Given the description of an element on the screen output the (x, y) to click on. 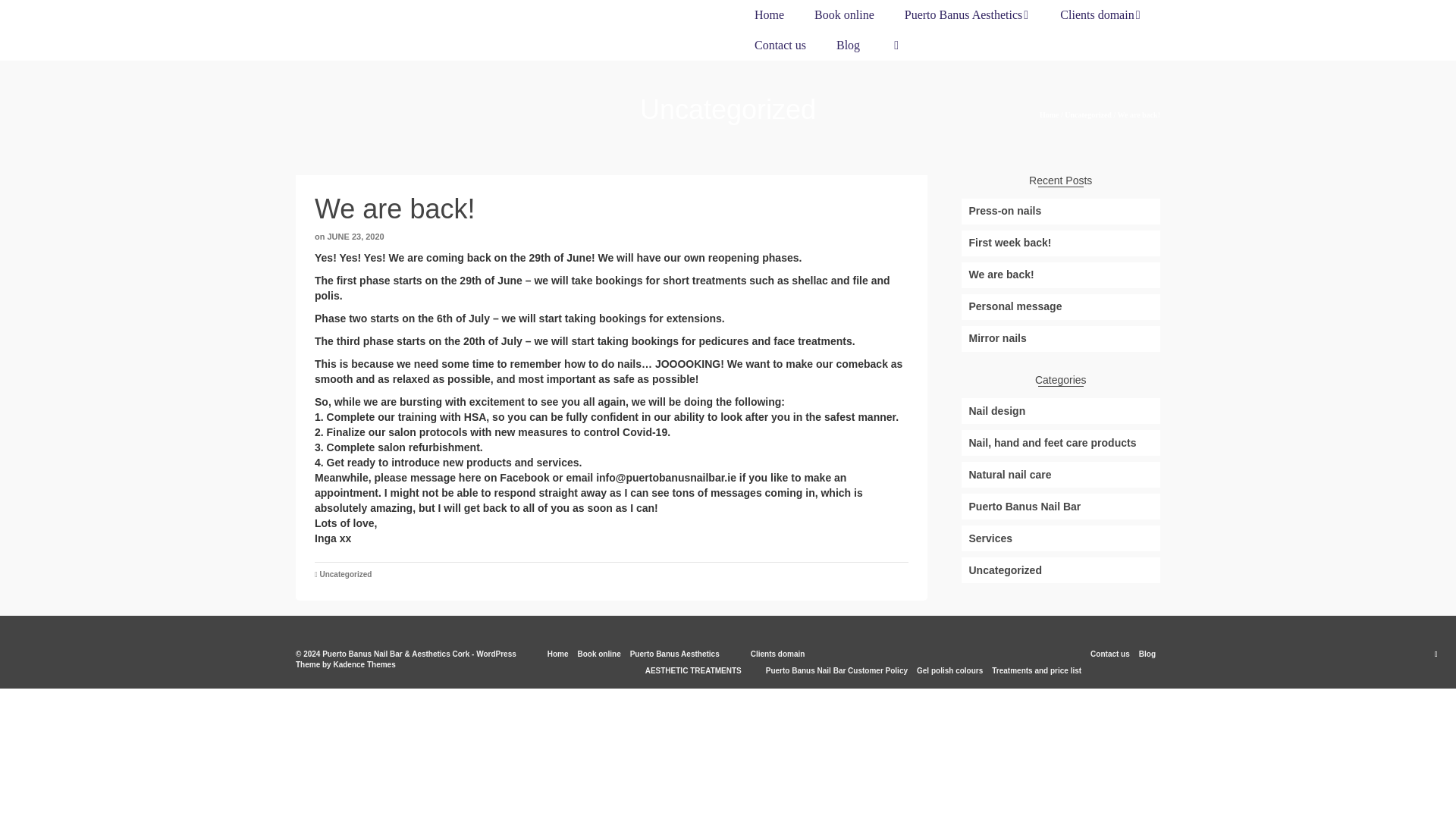
Press-on nails (1060, 211)
Home (769, 15)
We are back! (1060, 275)
First week back! (1060, 243)
Uncategorized (344, 574)
Blog (848, 45)
Puerto Banus Aesthetics (967, 15)
Home (1049, 114)
Book online (844, 15)
Natural nail care (1060, 474)
